Given the description of an element on the screen output the (x, y) to click on. 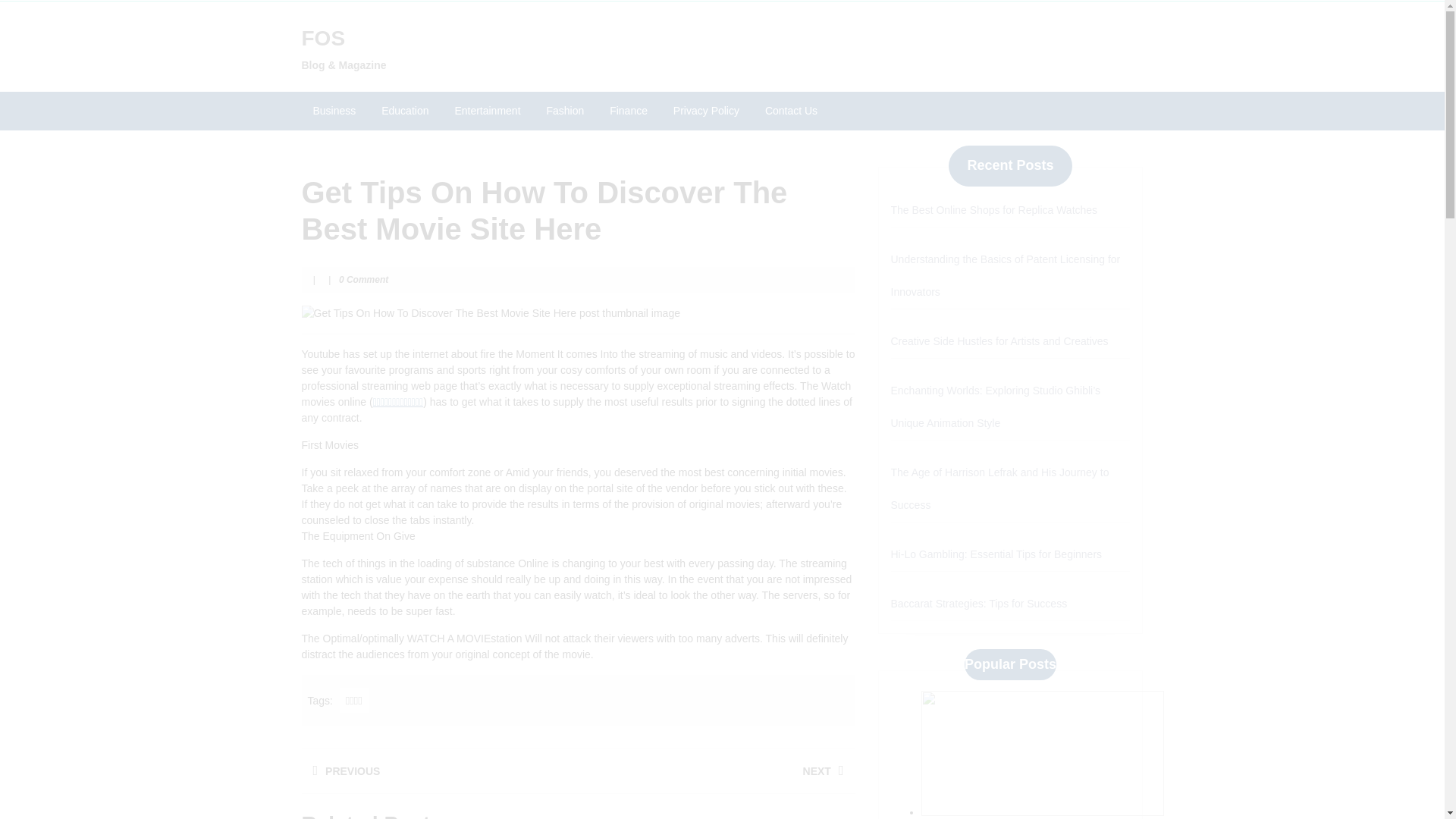
Creative Side Hustles for Artists and Creatives (998, 340)
Business (334, 110)
FOS (323, 37)
Privacy Policy (706, 110)
The Age of Harrison Lefrak and His Journey to Success (998, 488)
The Best Online Shops for Replica Watches (993, 209)
Entertainment (486, 110)
Fashion (564, 110)
Education (404, 110)
Contact Us (791, 110)
